Given the description of an element on the screen output the (x, y) to click on. 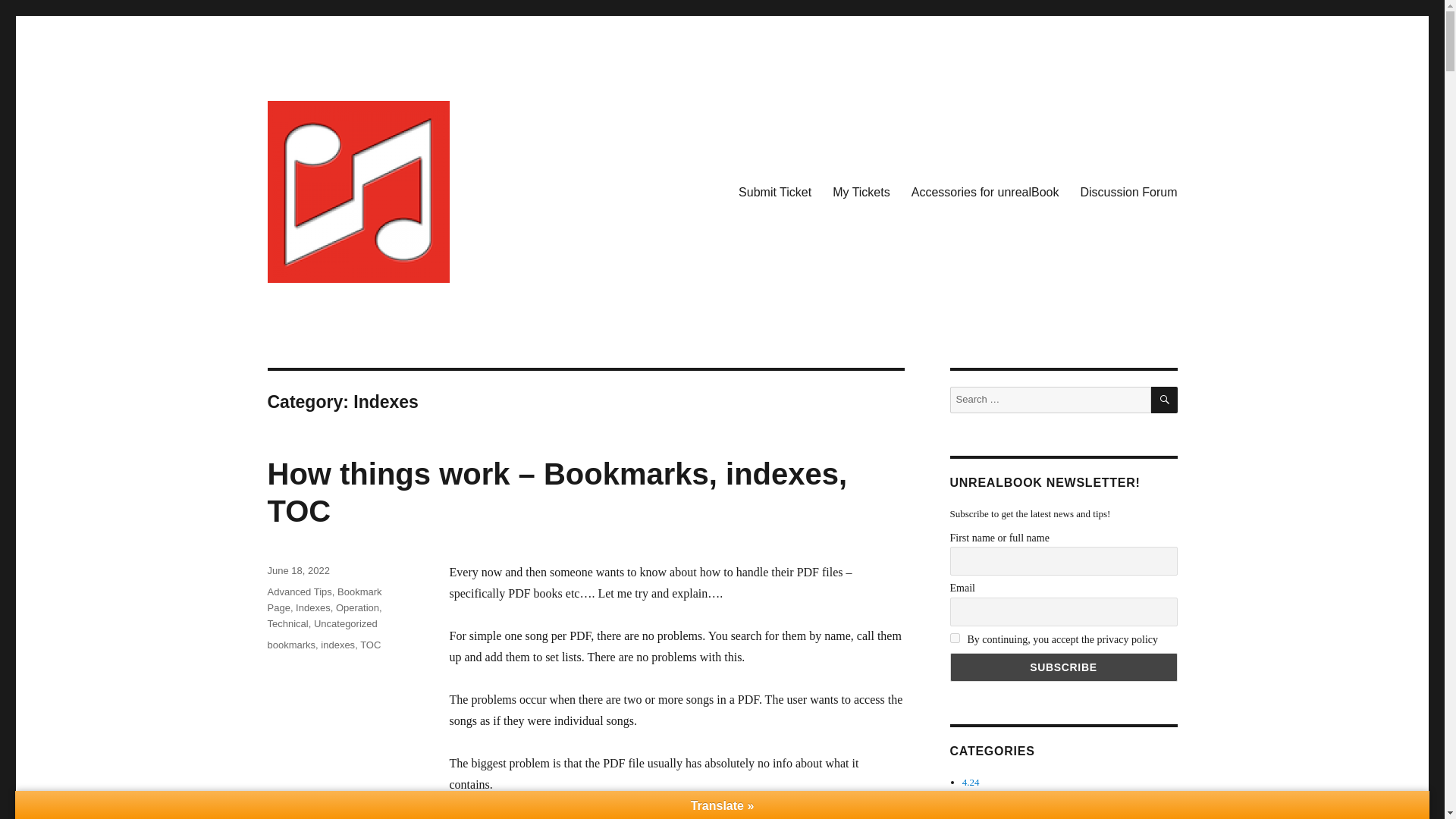
TOC (369, 644)
on (954, 637)
My Tickets (861, 192)
Technical (286, 623)
June 18, 2022 (297, 570)
Submit Ticket (775, 192)
unrealBook Manual (364, 306)
Advanced Tips (298, 591)
Accessories for unrealBook (985, 192)
Indexes (312, 607)
Discussion Forum (1128, 192)
Uncategorized (345, 623)
bookmarks (290, 644)
Bookmark Page (323, 599)
indexes (337, 644)
